Given the description of an element on the screen output the (x, y) to click on. 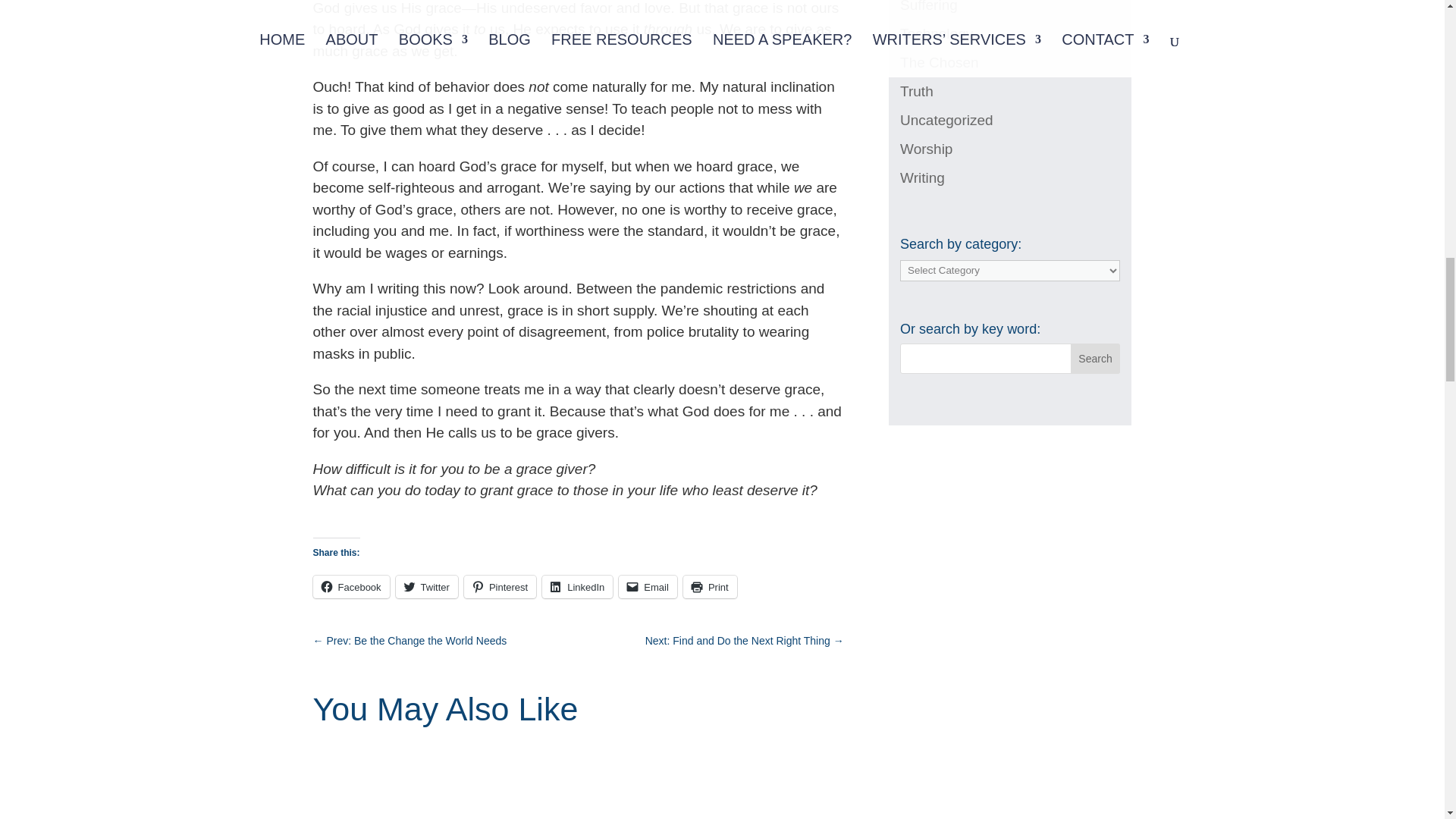
Facebook (350, 586)
Click to share on Twitter (427, 586)
LinkedIn (576, 586)
Click to share on LinkedIn (576, 586)
Click to print (709, 586)
Email (647, 586)
Click to share on Facebook (350, 586)
Print (709, 586)
Click to email a link to a friend (647, 586)
Twitter (427, 586)
